Given the description of an element on the screen output the (x, y) to click on. 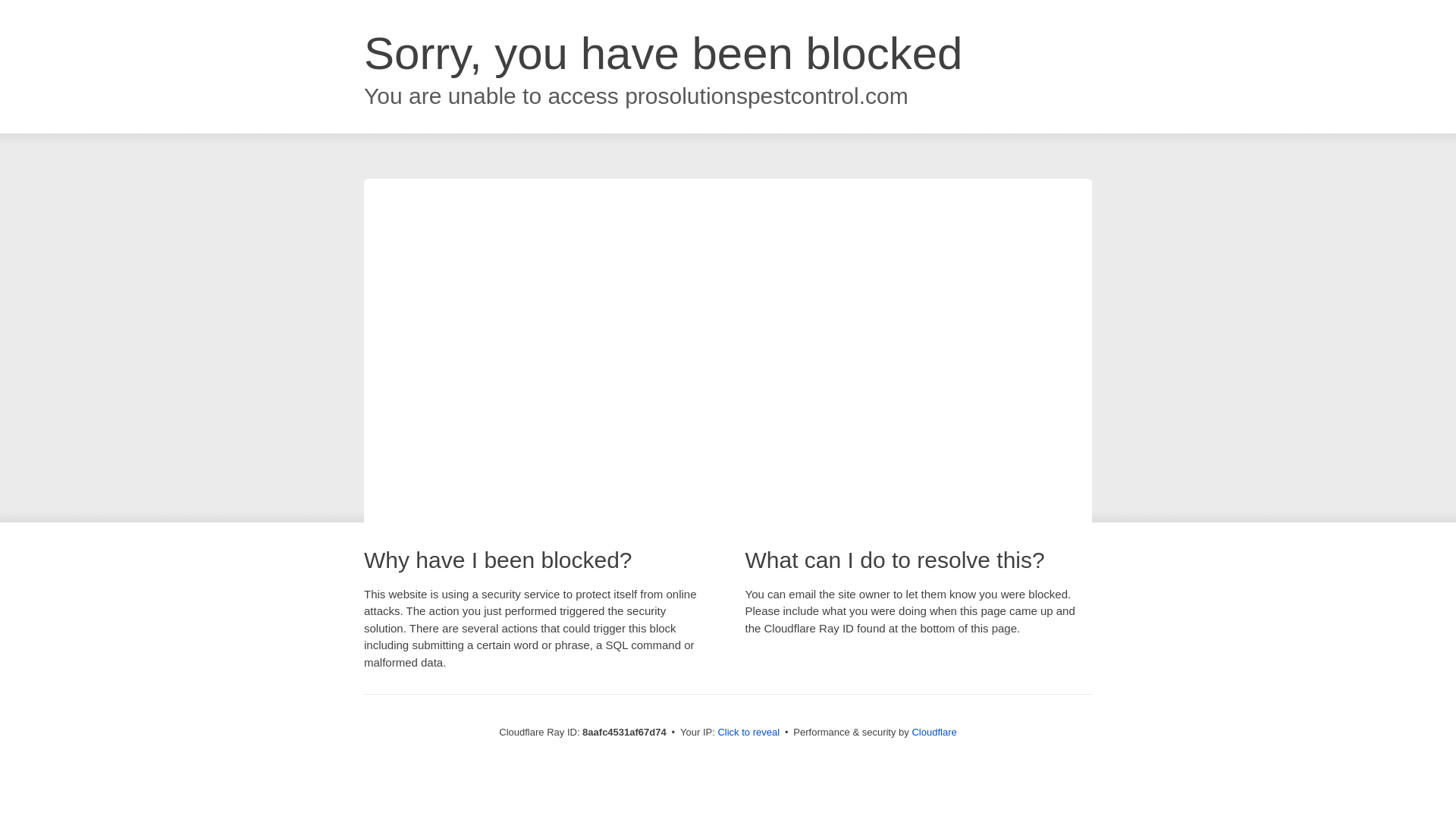
Click to reveal (747, 732)
Cloudflare (933, 731)
